Given the description of an element on the screen output the (x, y) to click on. 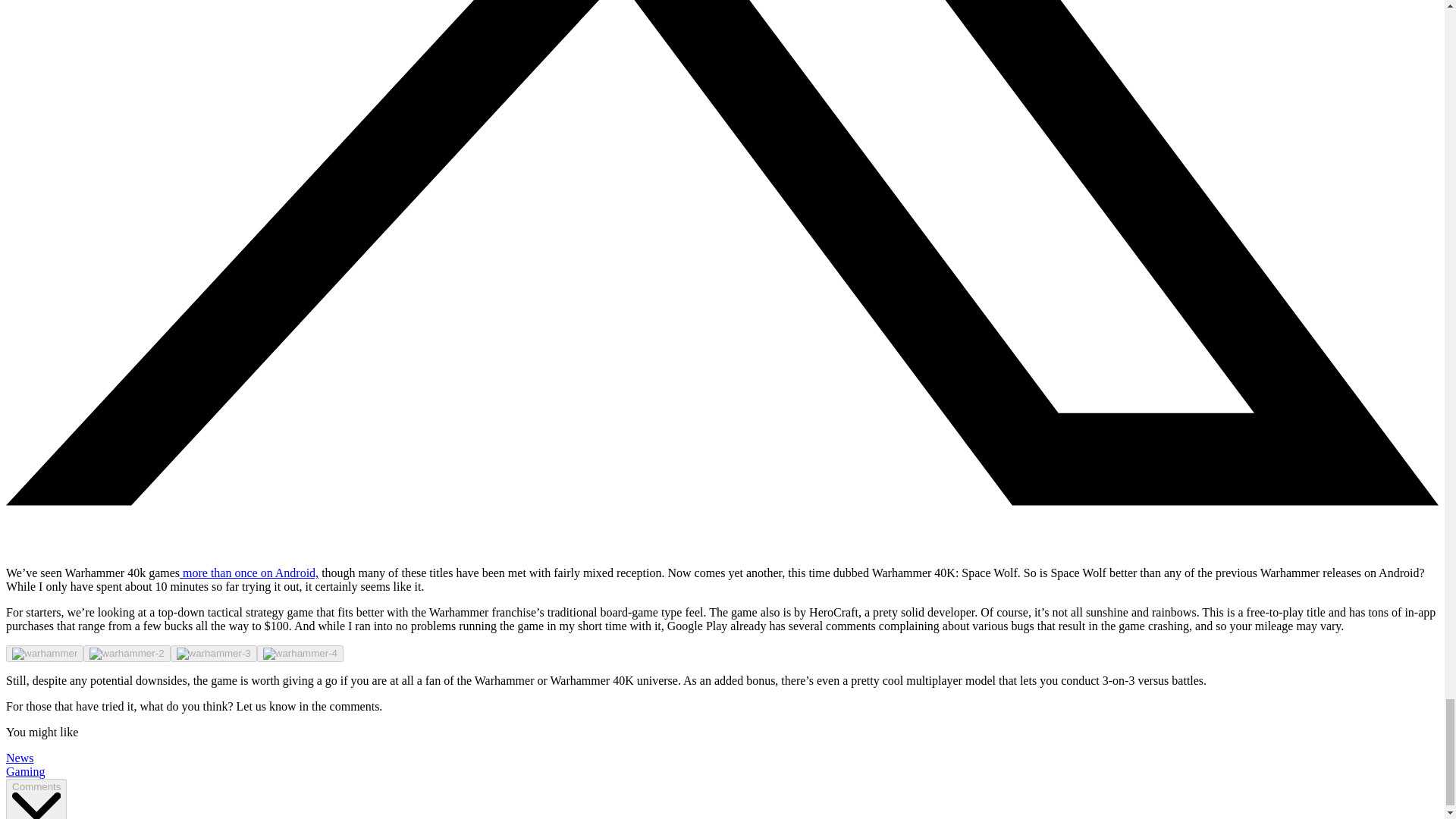
warhammer-2 (125, 653)
warhammer-4 (300, 653)
News (19, 757)
more than once on Android, (248, 572)
Gaming (25, 771)
warhammer-3 (213, 653)
warhammer (44, 653)
